Given the description of an element on the screen output the (x, y) to click on. 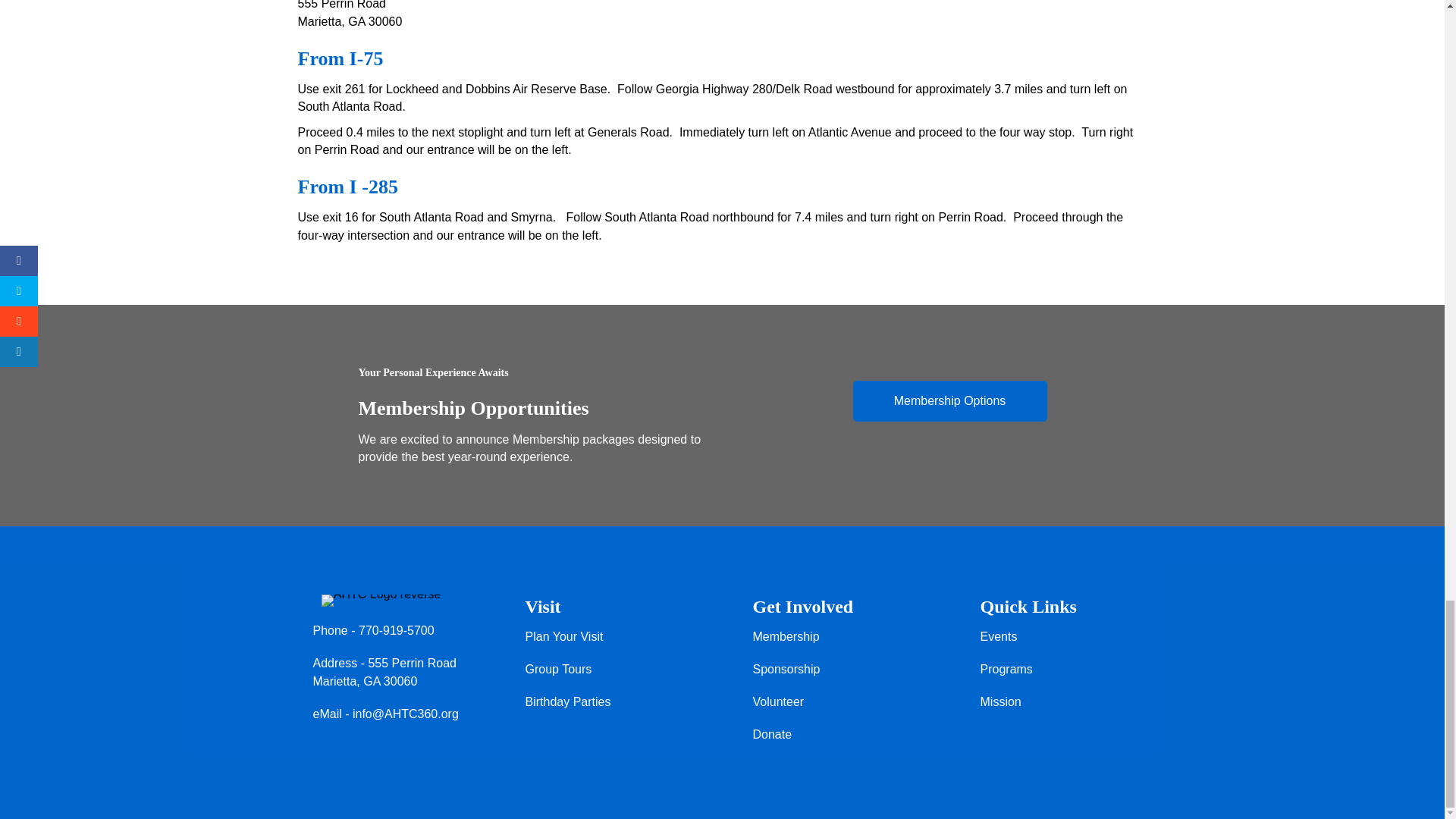
Click Here (948, 400)
AHTC Logo reverse (381, 600)
